Given the description of an element on the screen output the (x, y) to click on. 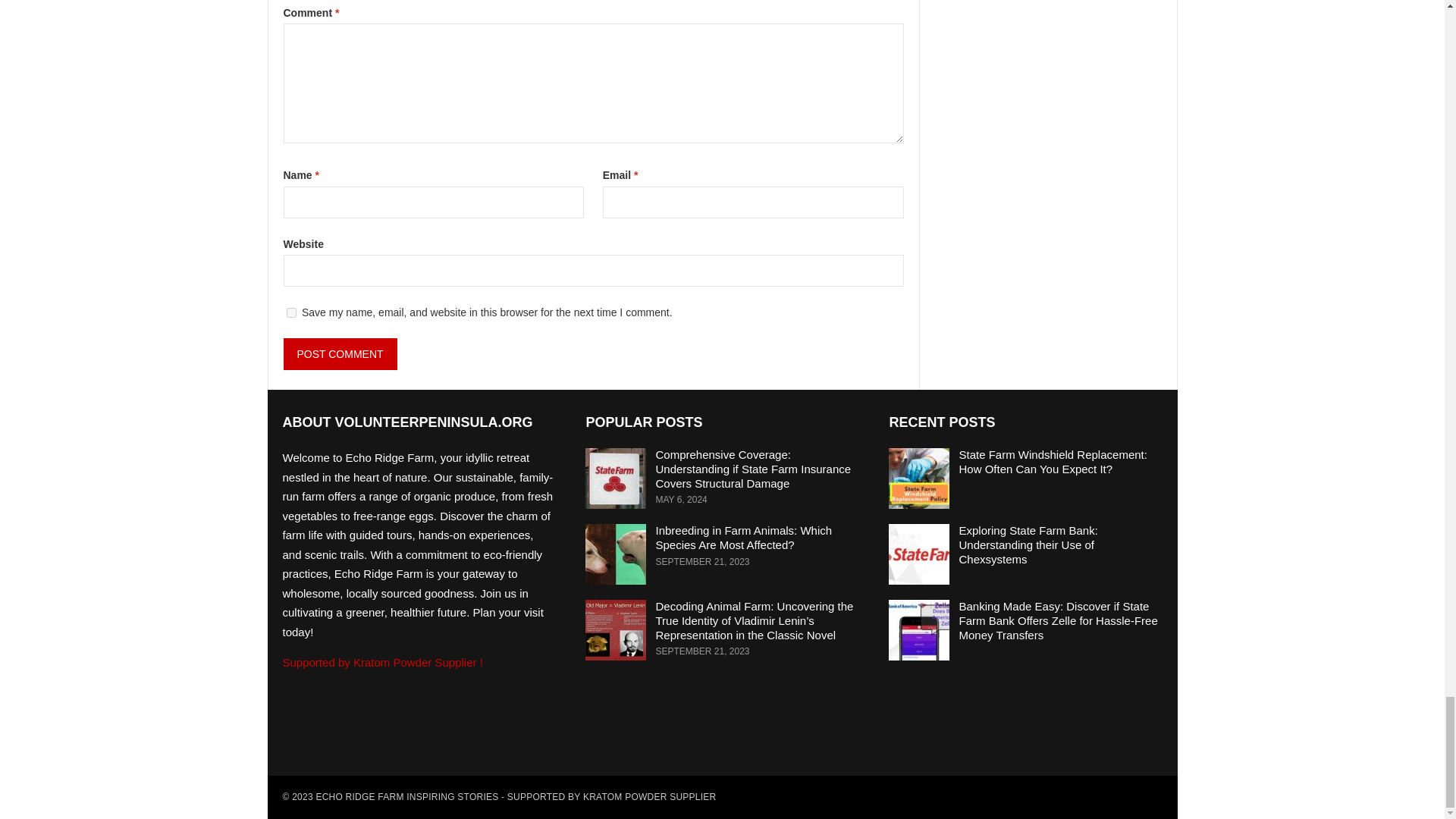
yes (291, 312)
Post Comment (340, 354)
Post Comment (340, 354)
